Given the description of an element on the screen output the (x, y) to click on. 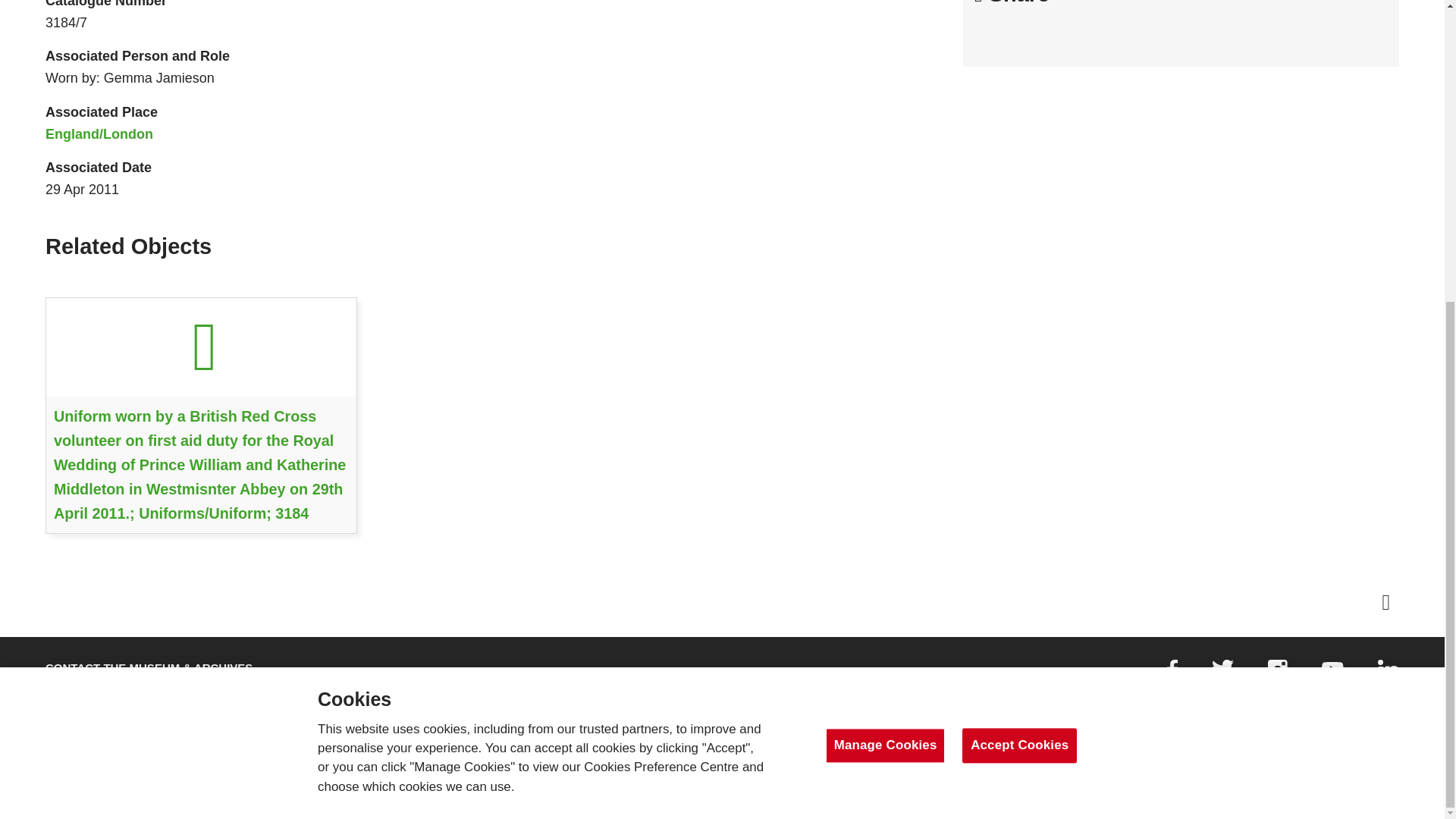
Share on Twitter (1027, 34)
Collection directory (1332, 672)
Privacy (576, 707)
Share on Facebook (188, 707)
Terms and conditions (990, 34)
Pin It (95, 707)
Share on Tumblr (1277, 674)
Modern slavery statement (1064, 34)
Accessibility (1102, 34)
Manage Cookies (359, 707)
LinkedIn logo (1388, 675)
Cookies (475, 707)
